Given the description of an element on the screen output the (x, y) to click on. 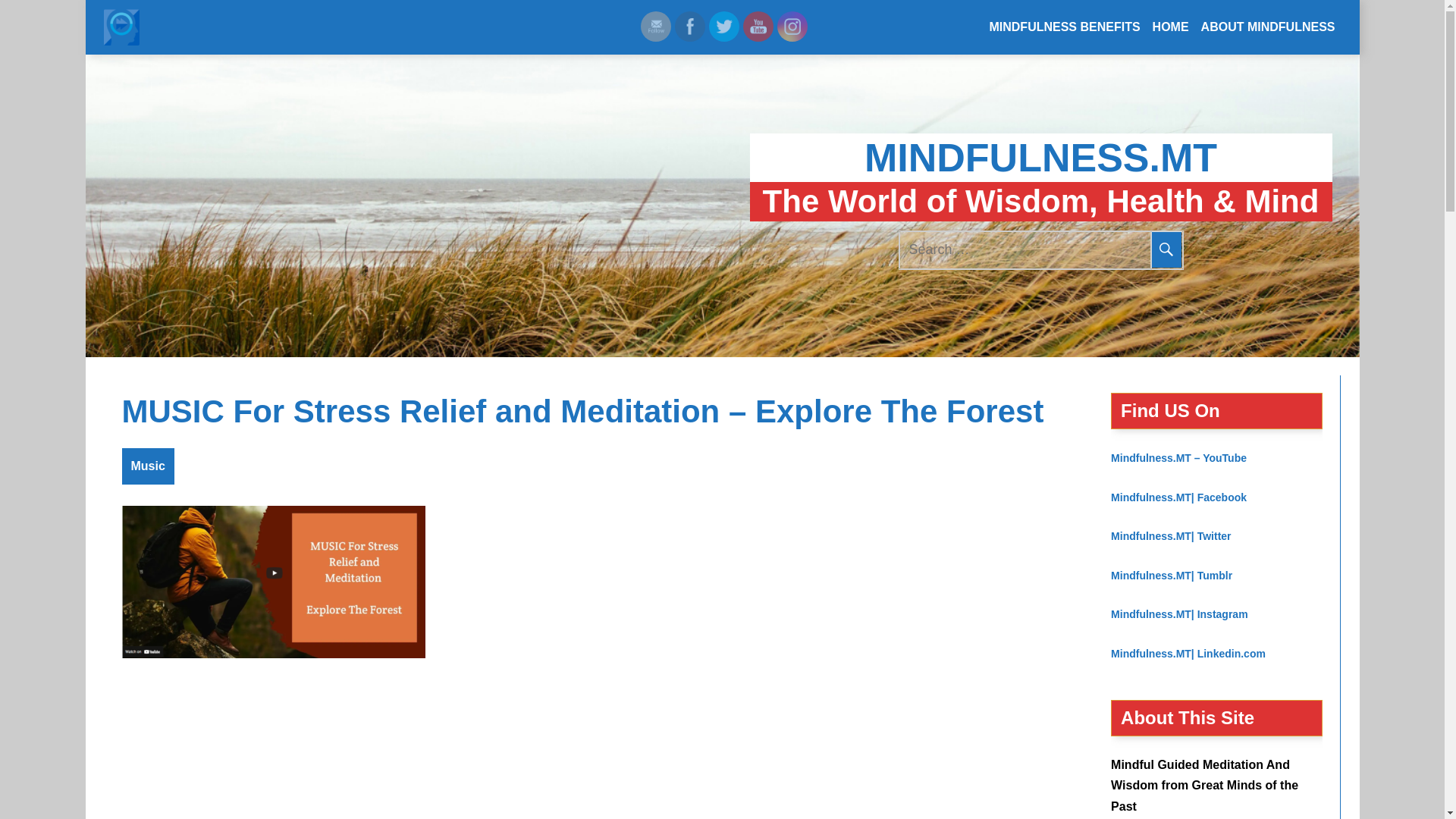
Search (1166, 249)
Follow by Email (655, 26)
Facebook (689, 26)
HOME (1171, 27)
MINDFULNESS BENEFITS (1063, 27)
Twitter (724, 26)
Search (1166, 249)
Music (146, 465)
MINDFULNESS.MT (1040, 157)
Search (1166, 249)
ABOUT MINDFULNESS (1267, 27)
